Given the description of an element on the screen output the (x, y) to click on. 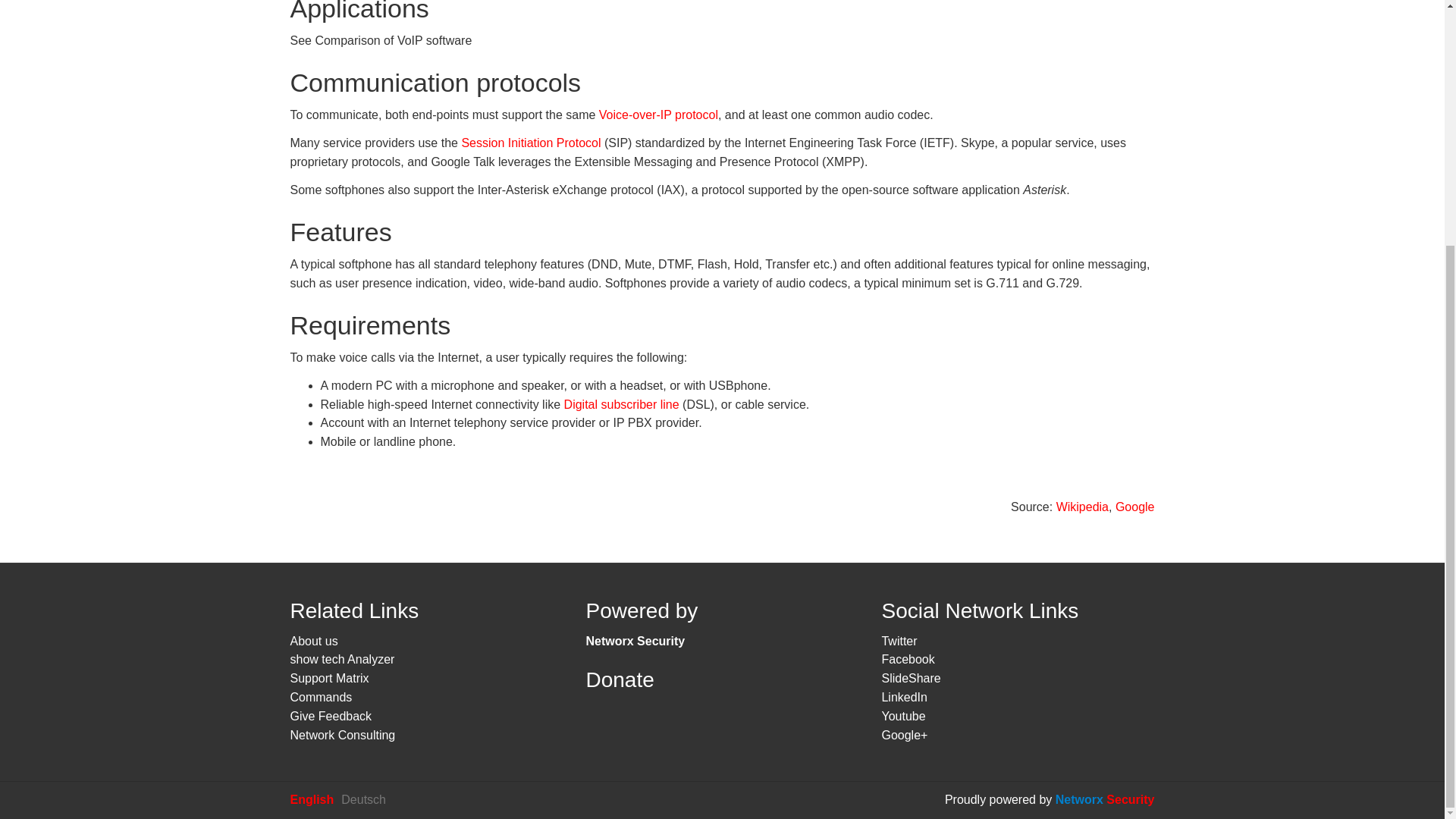
About us (313, 640)
Digital subscriber line (621, 404)
Donate (619, 679)
Commands (320, 697)
Google (1134, 506)
Support Matrix (328, 677)
Give Feedback (330, 716)
Networx Security (634, 640)
Network Consulting (341, 735)
Link to Slideshare (910, 677)
